Given the description of an element on the screen output the (x, y) to click on. 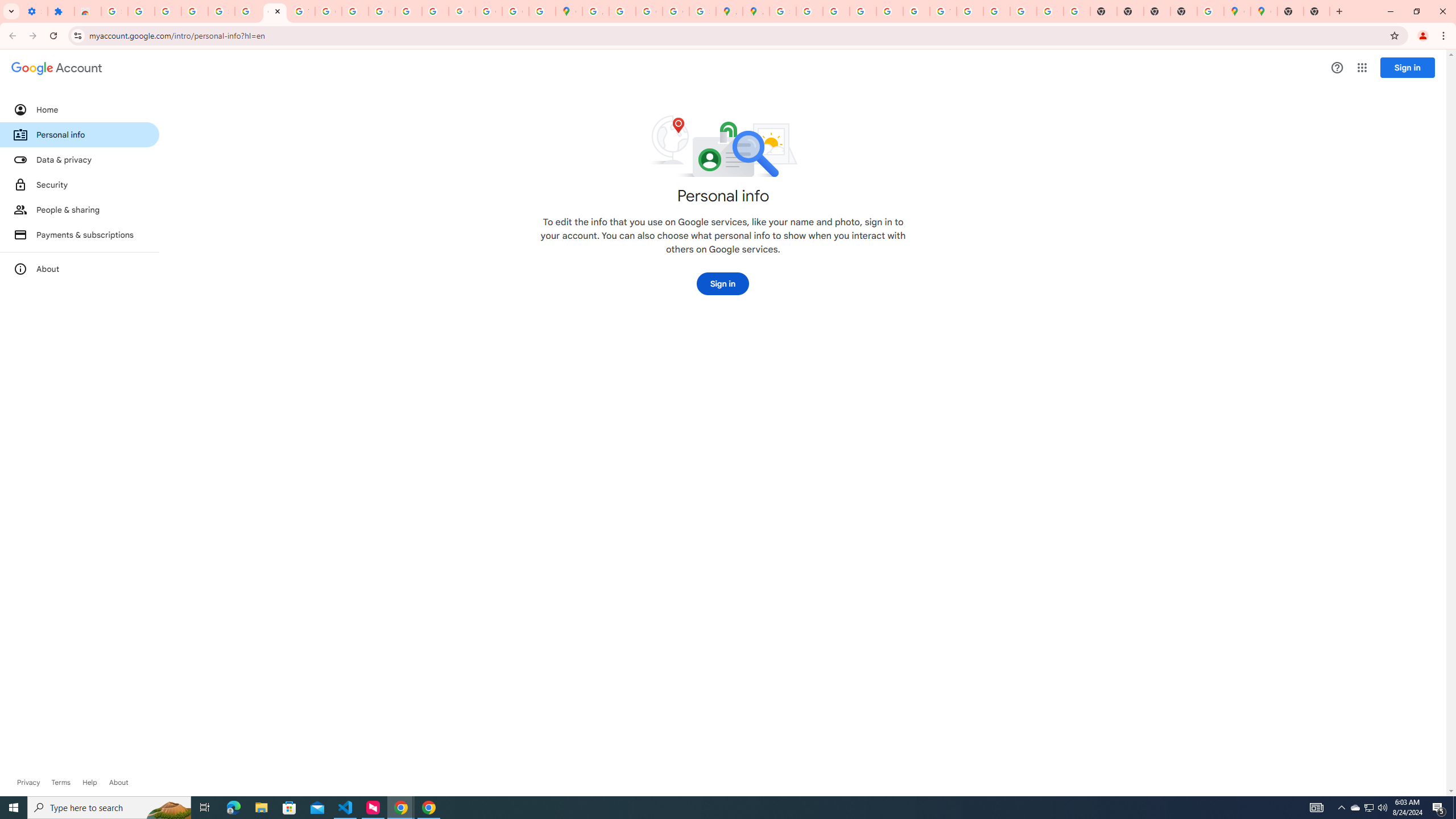
More information about the Google Account (79, 268)
Learn more about Google Account (118, 782)
Create your Google Account (649, 11)
Privacy Help Center - Policies Help (862, 11)
New Tab (1316, 11)
Safety in Our Products - Google Safety Center (702, 11)
Google Maps (1236, 11)
Data & privacy (79, 159)
